Given the description of an element on the screen output the (x, y) to click on. 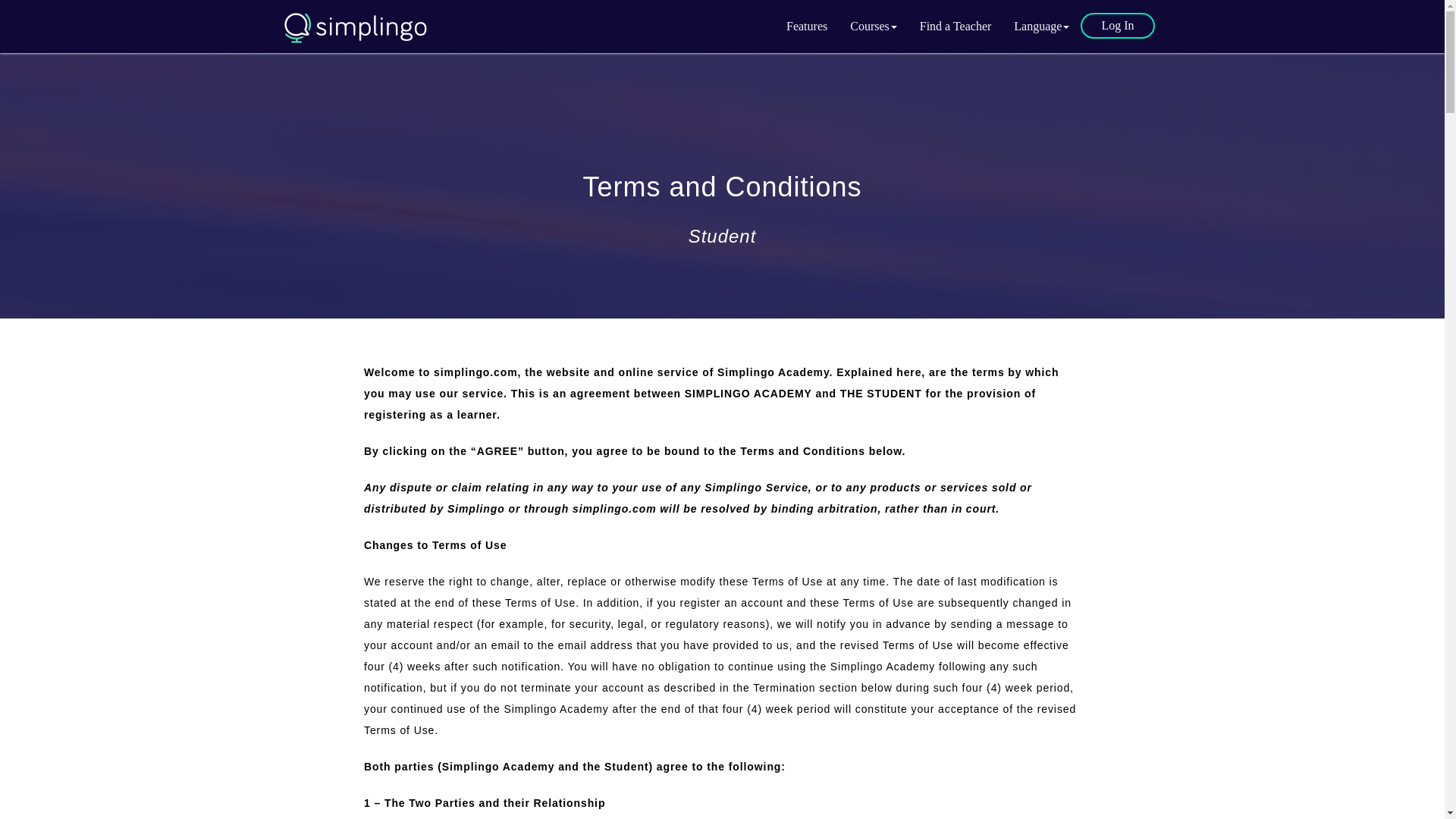
Courses (873, 26)
Log In (1117, 25)
Find a Teacher (955, 26)
Features (806, 26)
Language (1041, 26)
